Given the description of an element on the screen output the (x, y) to click on. 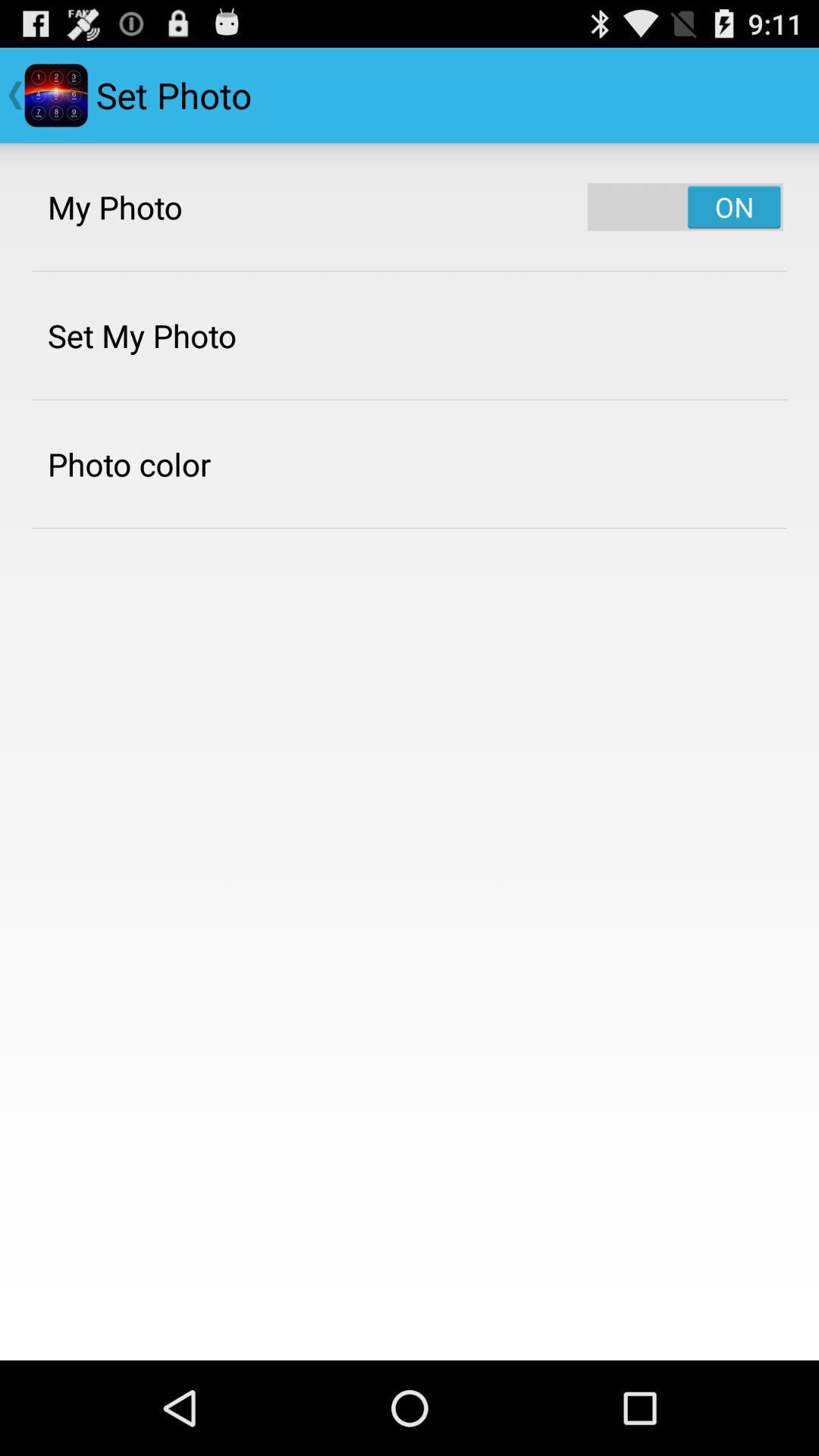
flip to the photo color app (129, 463)
